Given the description of an element on the screen output the (x, y) to click on. 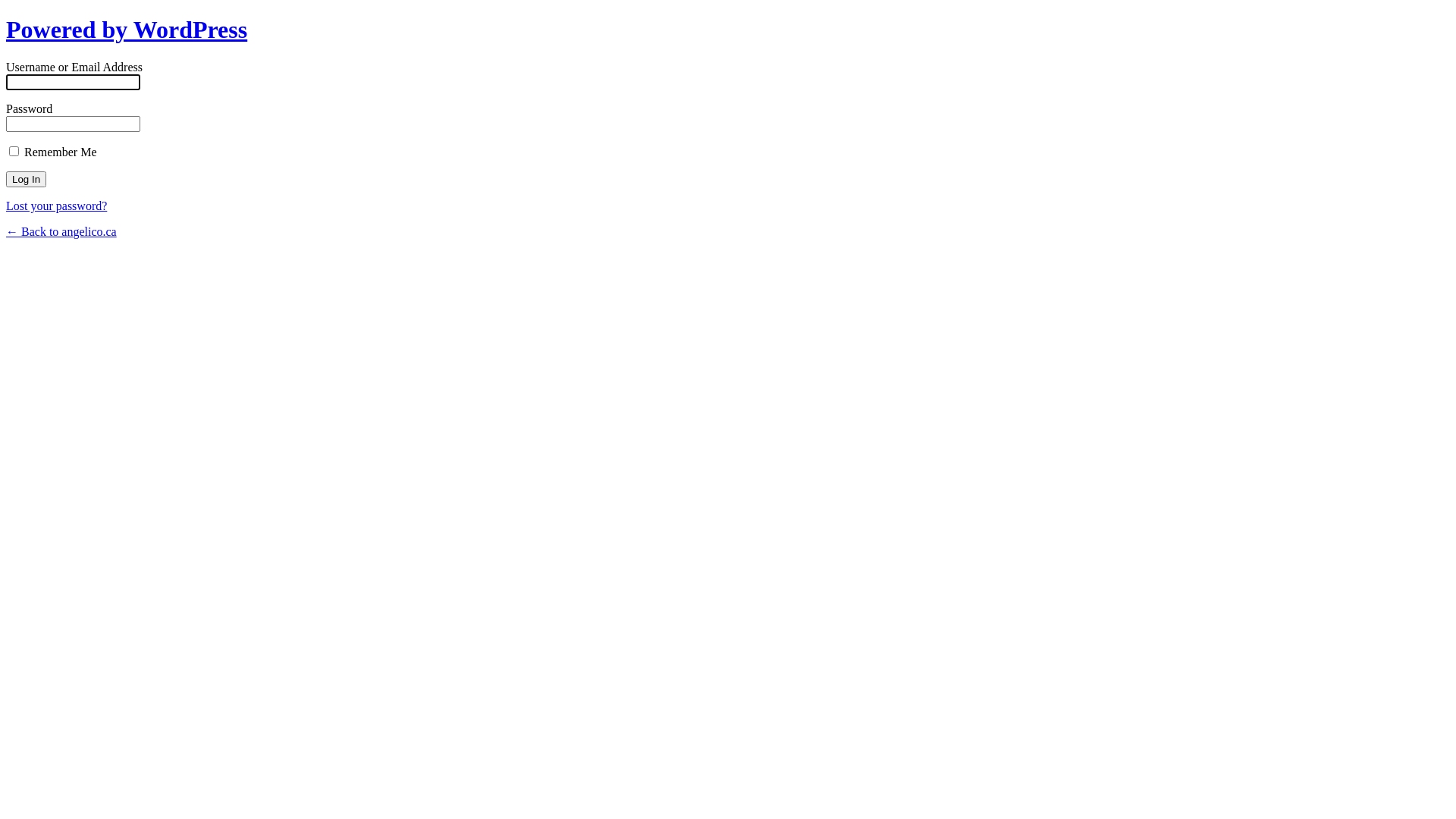
Powered by WordPress Element type: text (126, 29)
Lost your password? Element type: text (56, 205)
Log In Element type: text (26, 179)
